Given the description of an element on the screen output the (x, y) to click on. 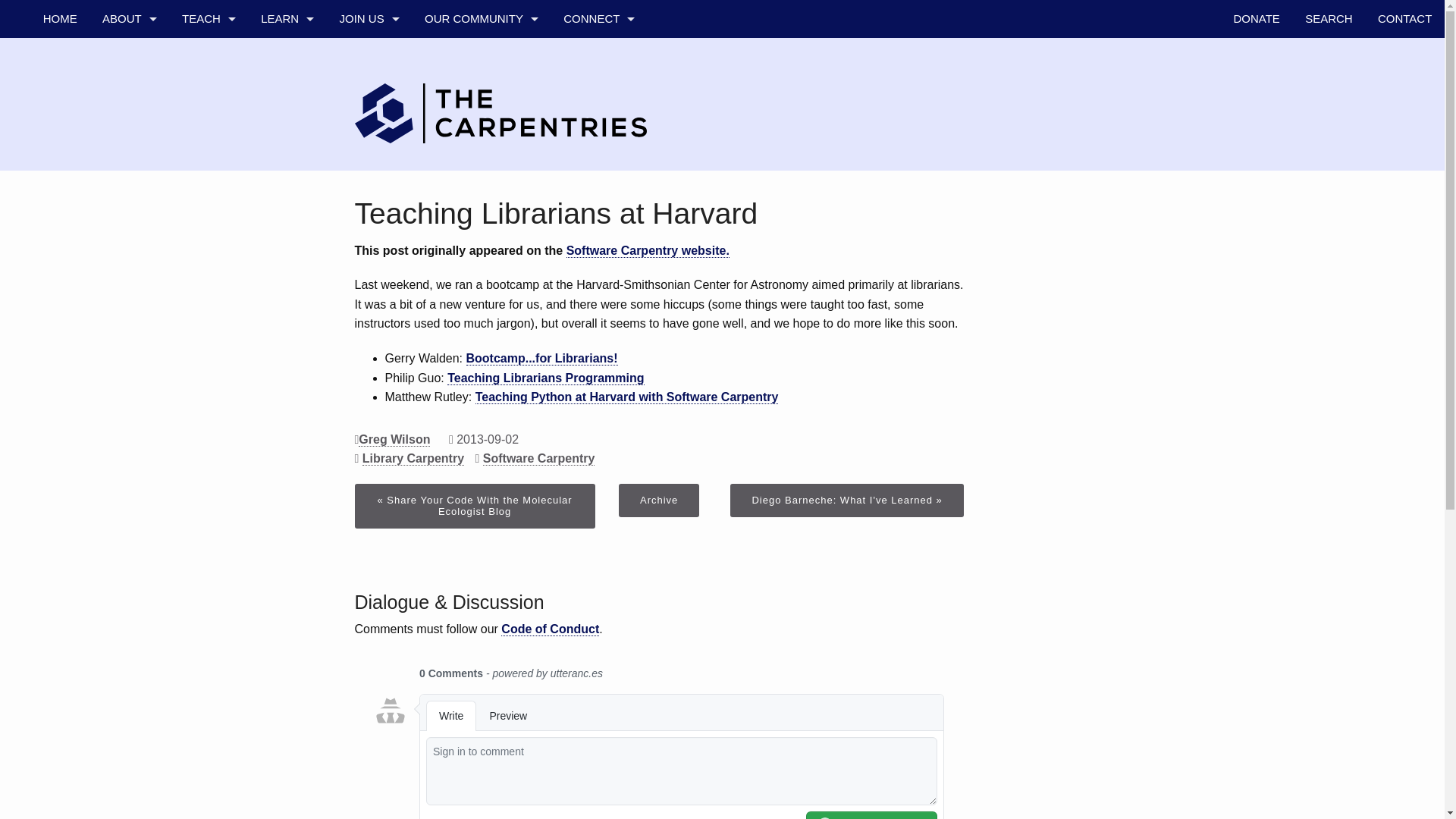
Comments (659, 736)
ABOUT US (128, 56)
SEARCH (1328, 18)
ONLINE WORKSHOP RECOMMENDATIONS (207, 322)
GOVERNANCE (128, 170)
COMMUNITY OVERVIEW (481, 94)
EQUITY, INCLUSION, AND ACCESSIBILITY (128, 322)
LIBRARY CARPENTRY LESSONS (207, 170)
GET INVOLVED (369, 56)
BECOME A MEMBER ORGANISATION (369, 132)
